Given the description of an element on the screen output the (x, y) to click on. 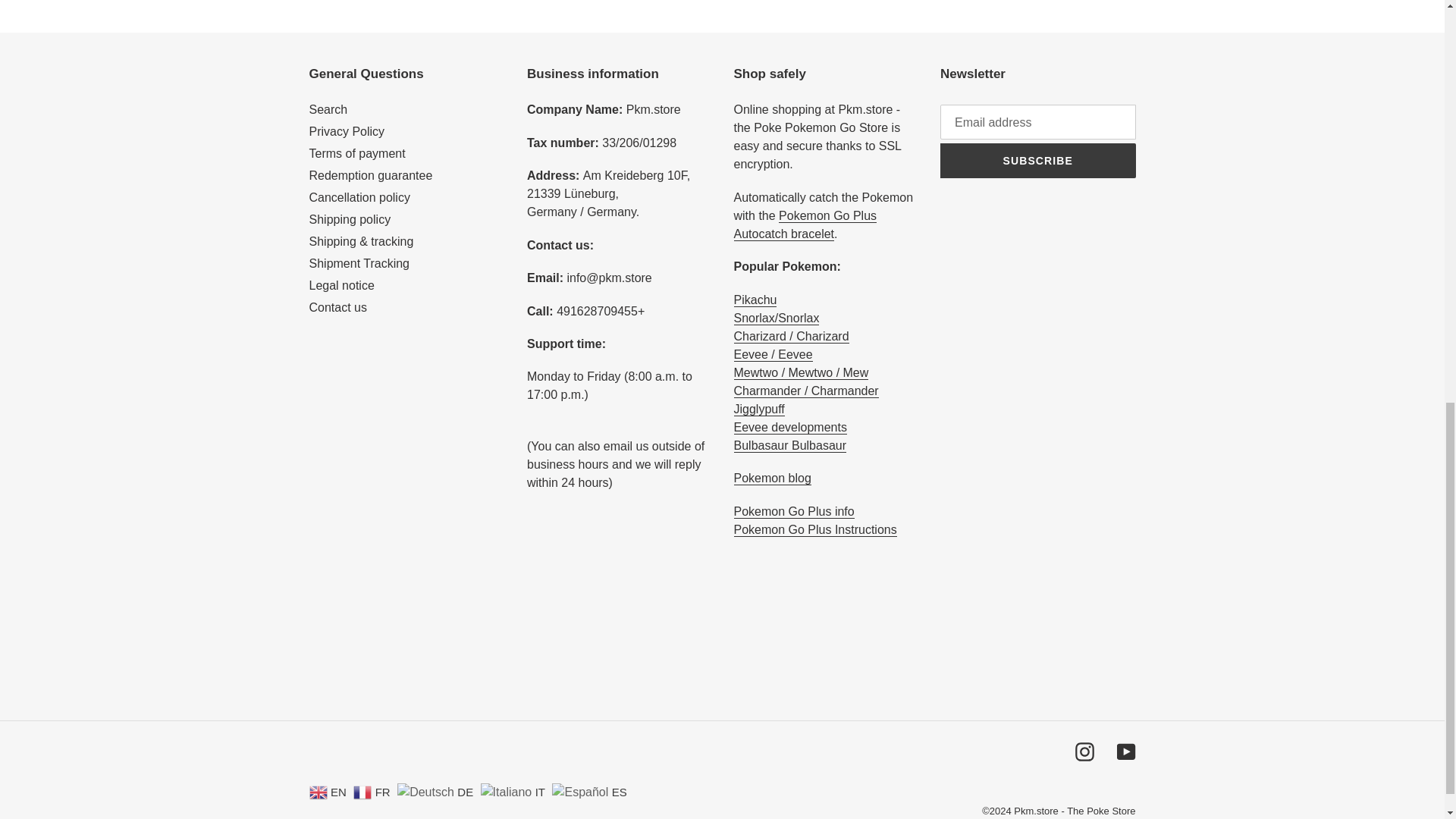
Bulbasaur Bulbasaur (790, 445)
News (771, 478)
Pikachu (755, 300)
Pokemon Go Plus Guide and FAQ (814, 530)
Pokemon Go Plus (793, 511)
English (329, 790)
Pokemon Go Plus Bluetooth Autocatch Bracelet (805, 224)
Eevee Eevee Evolutions (790, 427)
Jigglypuff Jigglypuff (758, 409)
Italiano (514, 790)
